Given the description of an element on the screen output the (x, y) to click on. 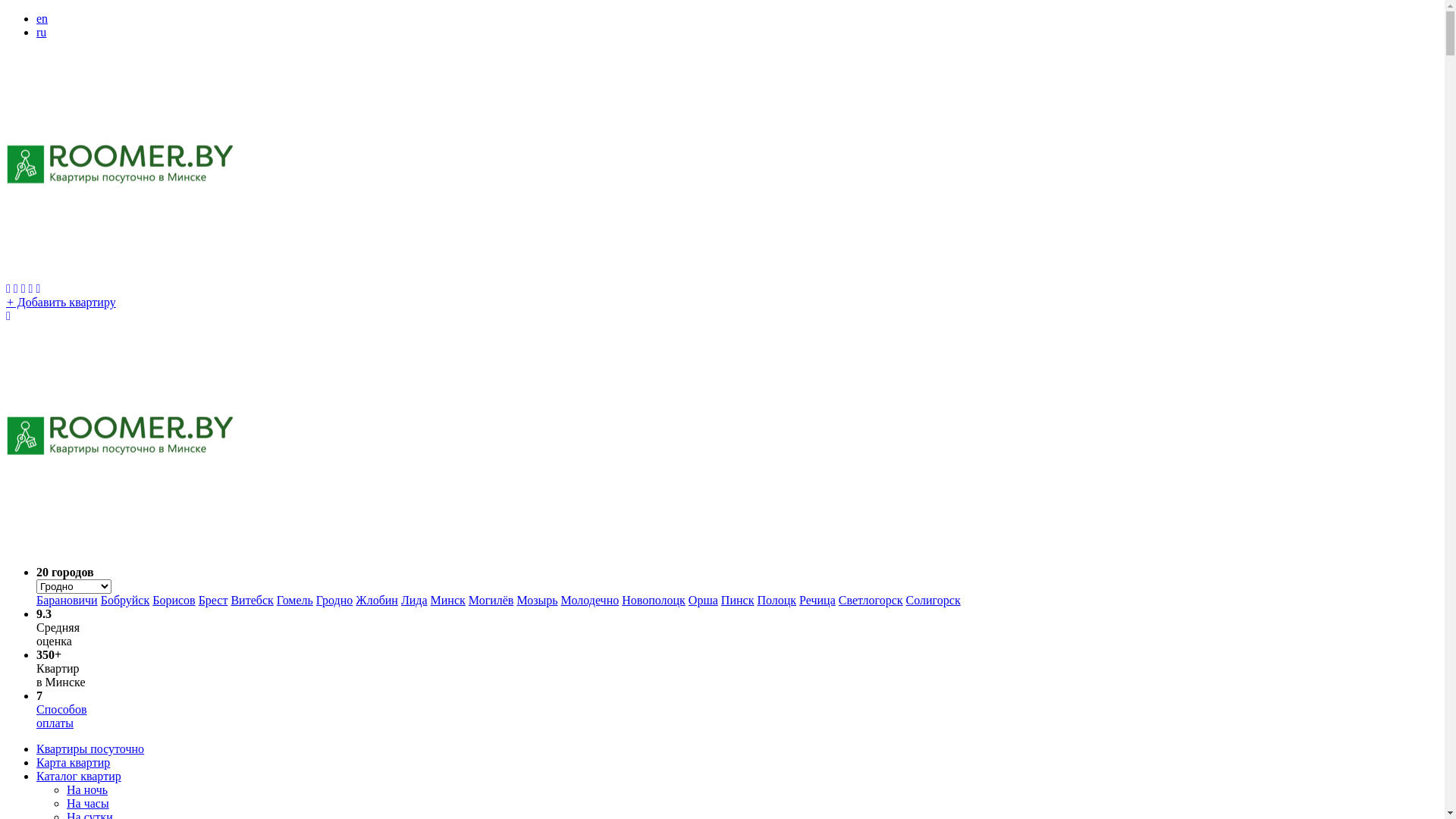
en Element type: text (41, 18)
ru Element type: text (41, 31)
